Given the description of an element on the screen output the (x, y) to click on. 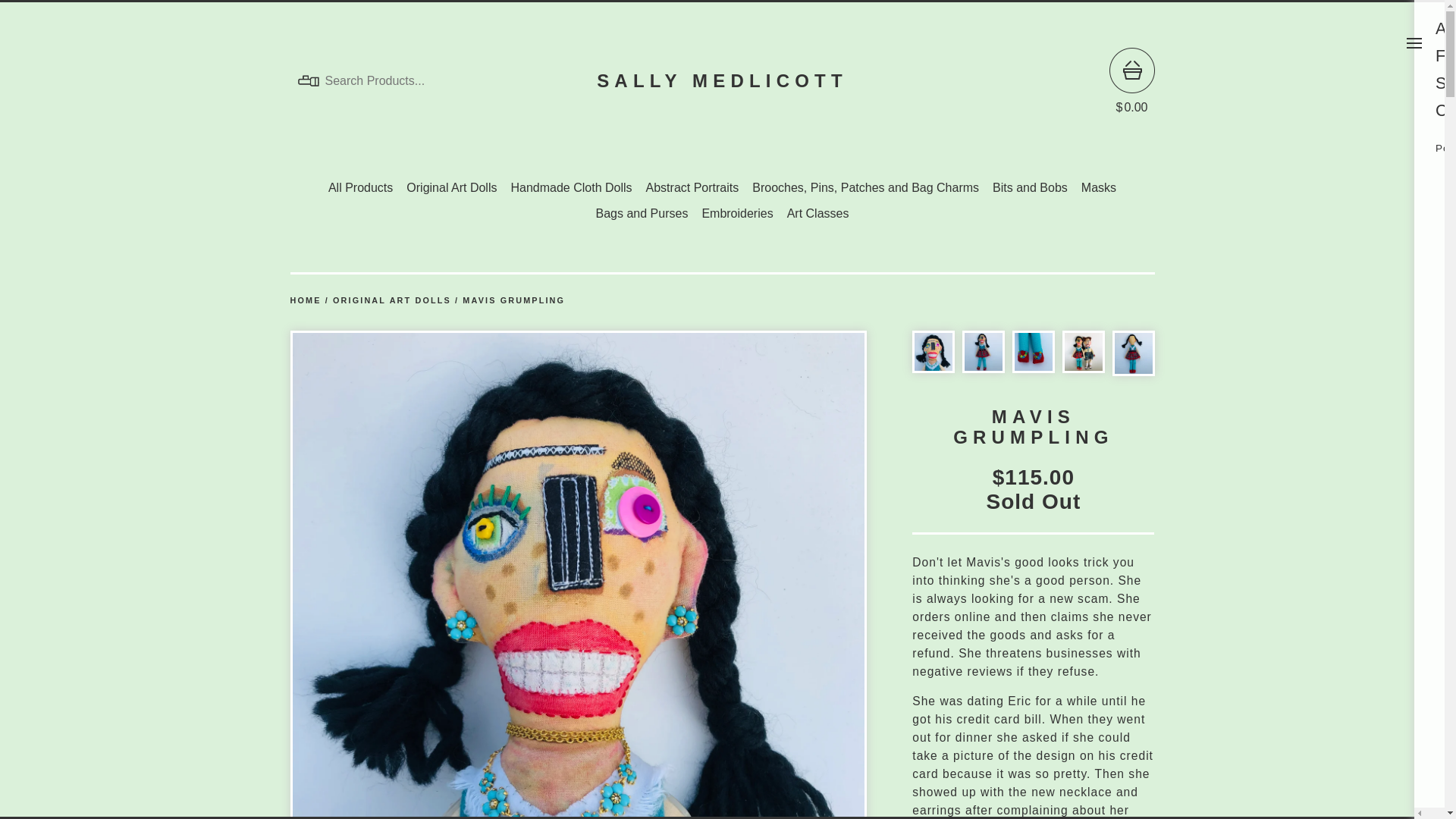
View Bits and Bobs (1030, 187)
Handmade Cloth Dolls (570, 187)
View Brooches, Pins, Patches and Bag Charms (865, 187)
View Bags and Purses (641, 213)
Brooches, Pins, Patches and Bag Charms (865, 187)
View Handmade Cloth Dolls (570, 187)
Bits and Bobs (1030, 187)
ORIGINAL ART DOLLS (392, 299)
View Embroideries (736, 213)
Open menu (1414, 42)
